Given the description of an element on the screen output the (x, y) to click on. 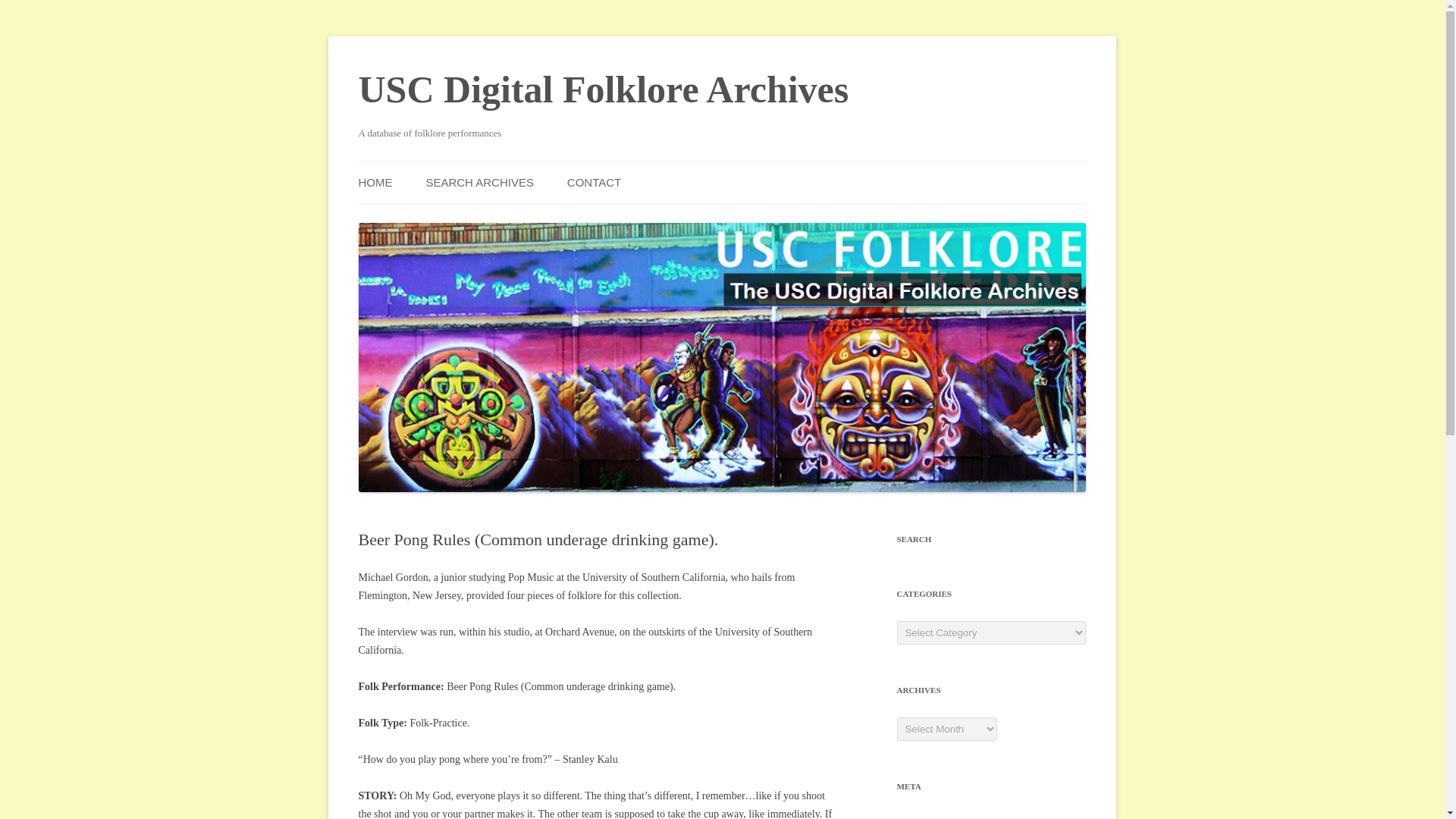
SEARCH ARCHIVES (479, 182)
USC Digital Folklore Archives (603, 89)
USC Digital Folklore Archives (603, 89)
CONTACT (594, 182)
Log in (909, 817)
